Given the description of an element on the screen output the (x, y) to click on. 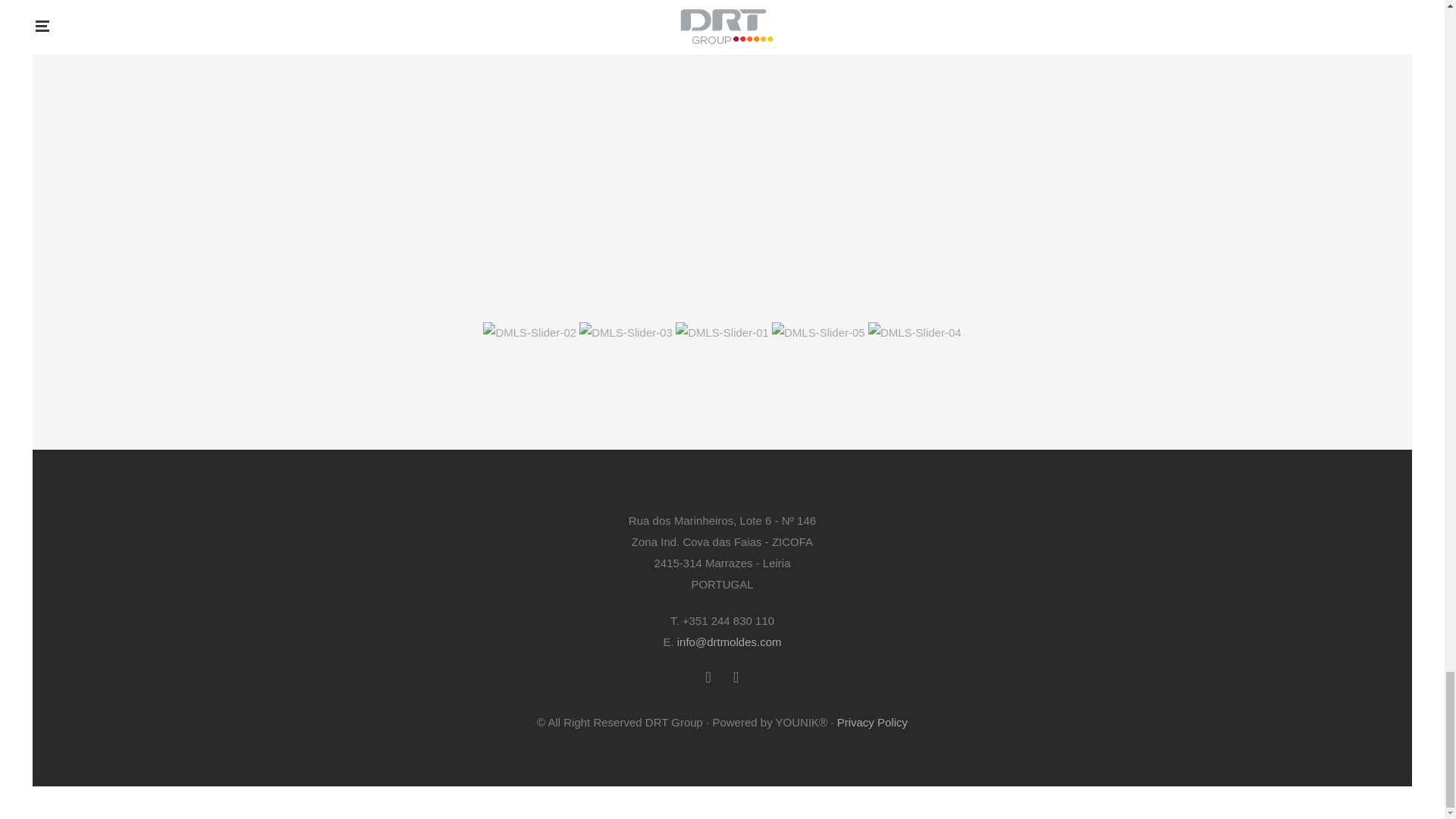
DMLS-Slider-03 (627, 332)
Gloss (1055, 42)
DMLS-Slider-05 (819, 332)
DMLS-Slider-02 (531, 332)
DMLS-Slider-01 (723, 332)
Privacy Policy (872, 721)
DMLS-Slider-04 (913, 332)
